Given the description of an element on the screen output the (x, y) to click on. 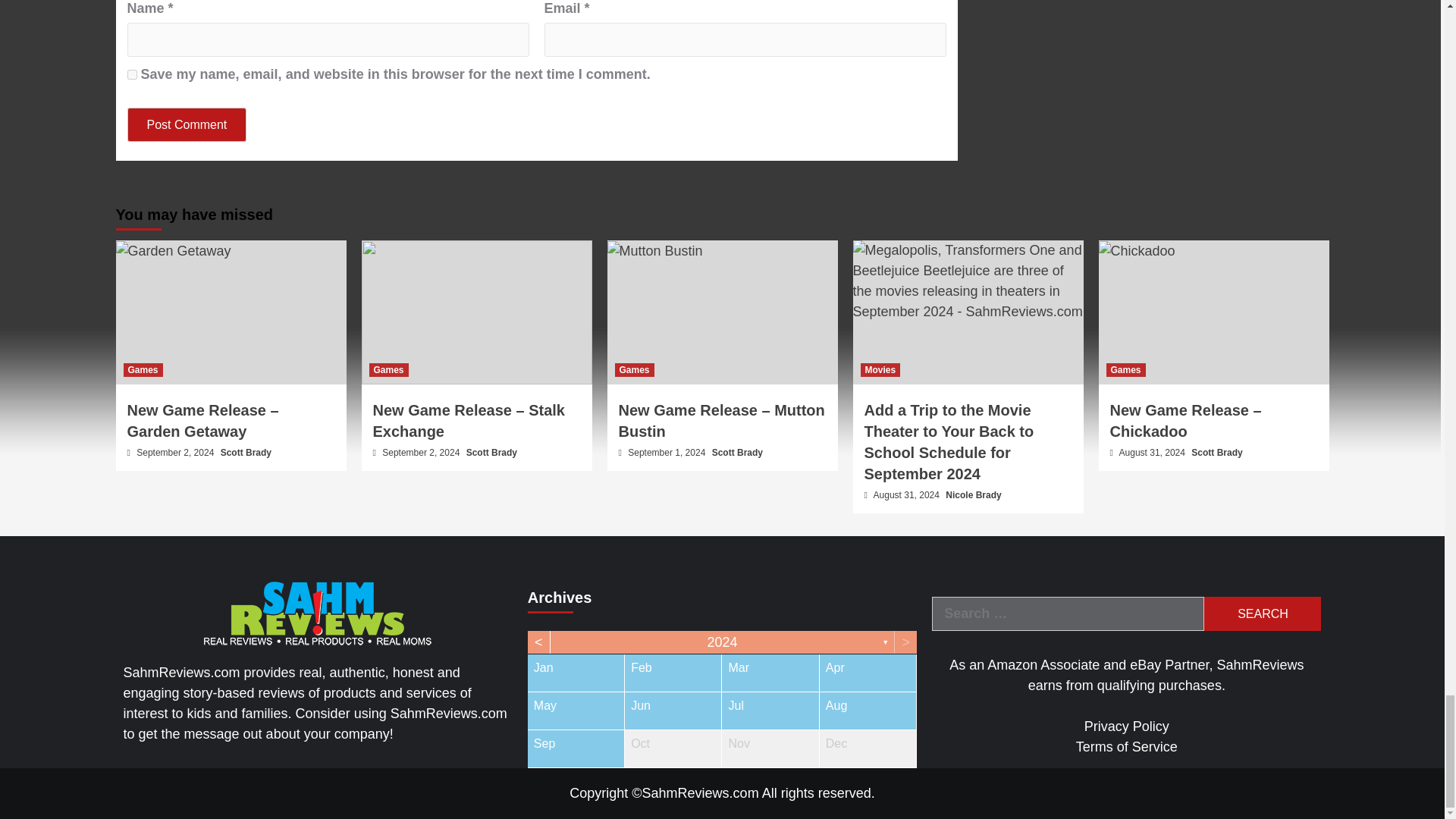
Search (1262, 613)
Post Comment (187, 124)
yes (132, 74)
Search (1262, 613)
